Given the description of an element on the screen output the (x, y) to click on. 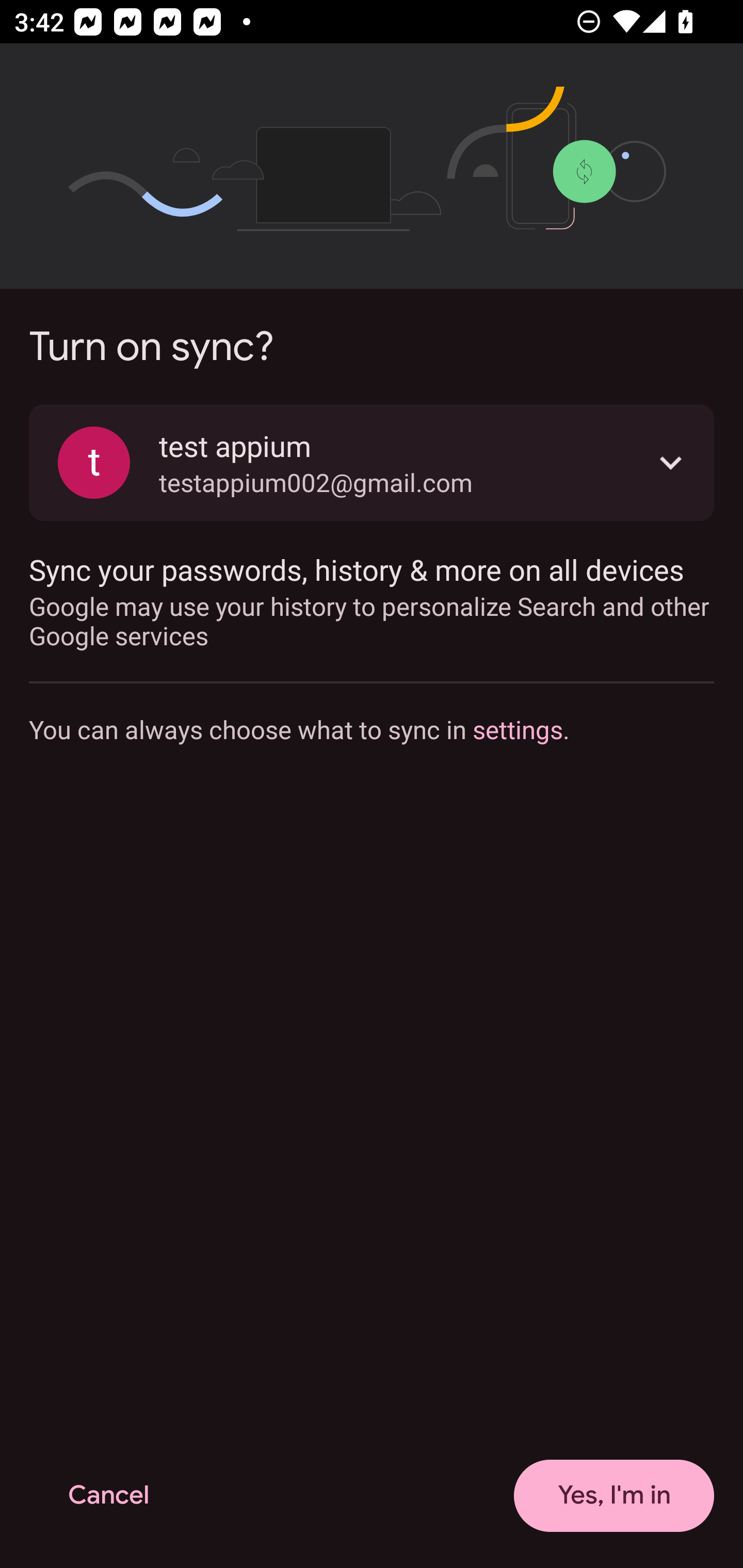
test appium testappium002@gmail.com (371, 462)
Cancel (107, 1495)
Yes, I'm in (614, 1495)
